Given the description of an element on the screen output the (x, y) to click on. 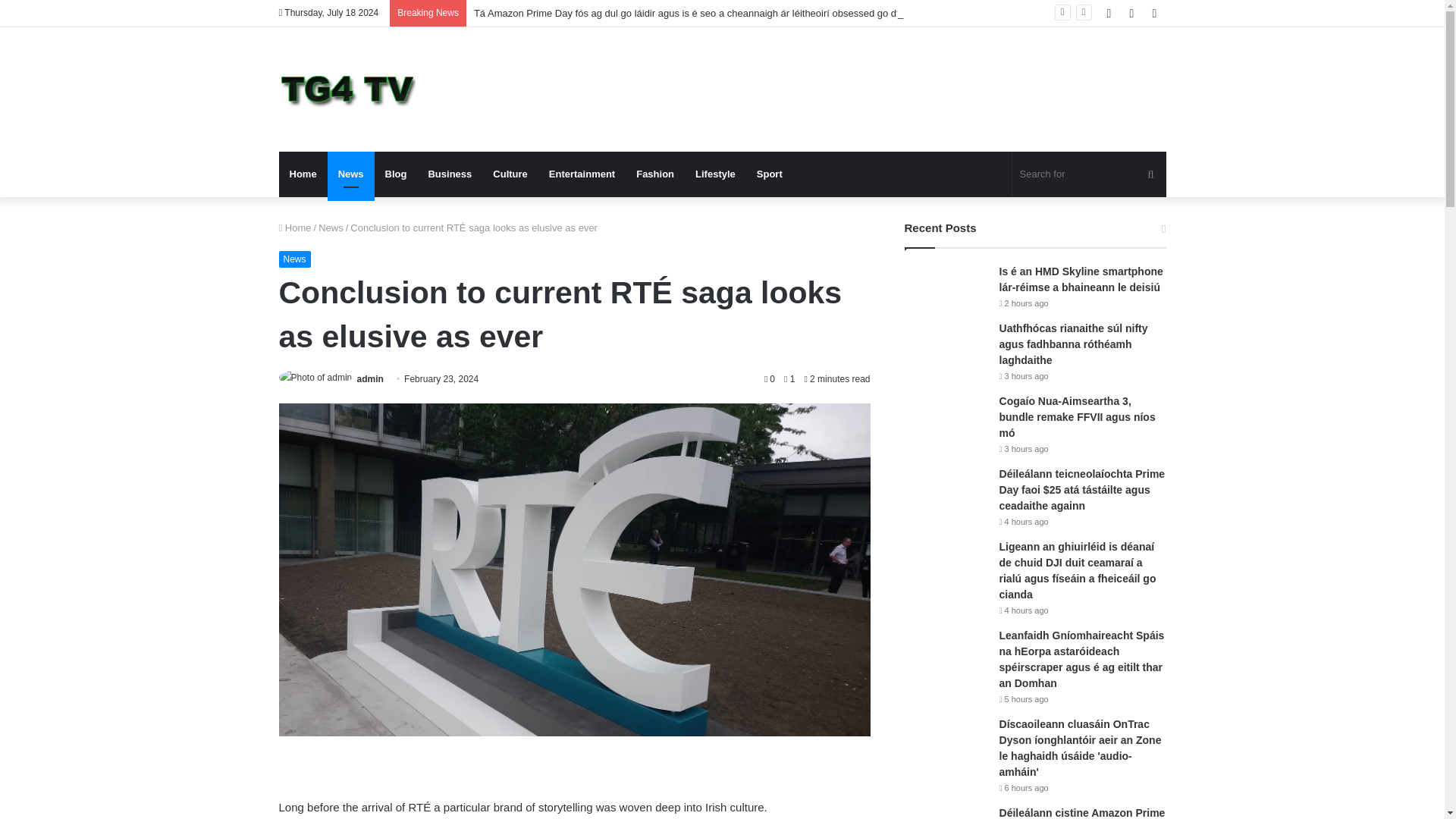
News (295, 258)
Search for (1088, 174)
admin (370, 378)
admin (370, 378)
TG4 TV (346, 89)
Culture (509, 174)
Fashion (655, 174)
Business (448, 174)
Home (303, 174)
News (330, 227)
Blog (395, 174)
Entertainment (582, 174)
Sport (769, 174)
Lifestyle (714, 174)
News (350, 174)
